Given the description of an element on the screen output the (x, y) to click on. 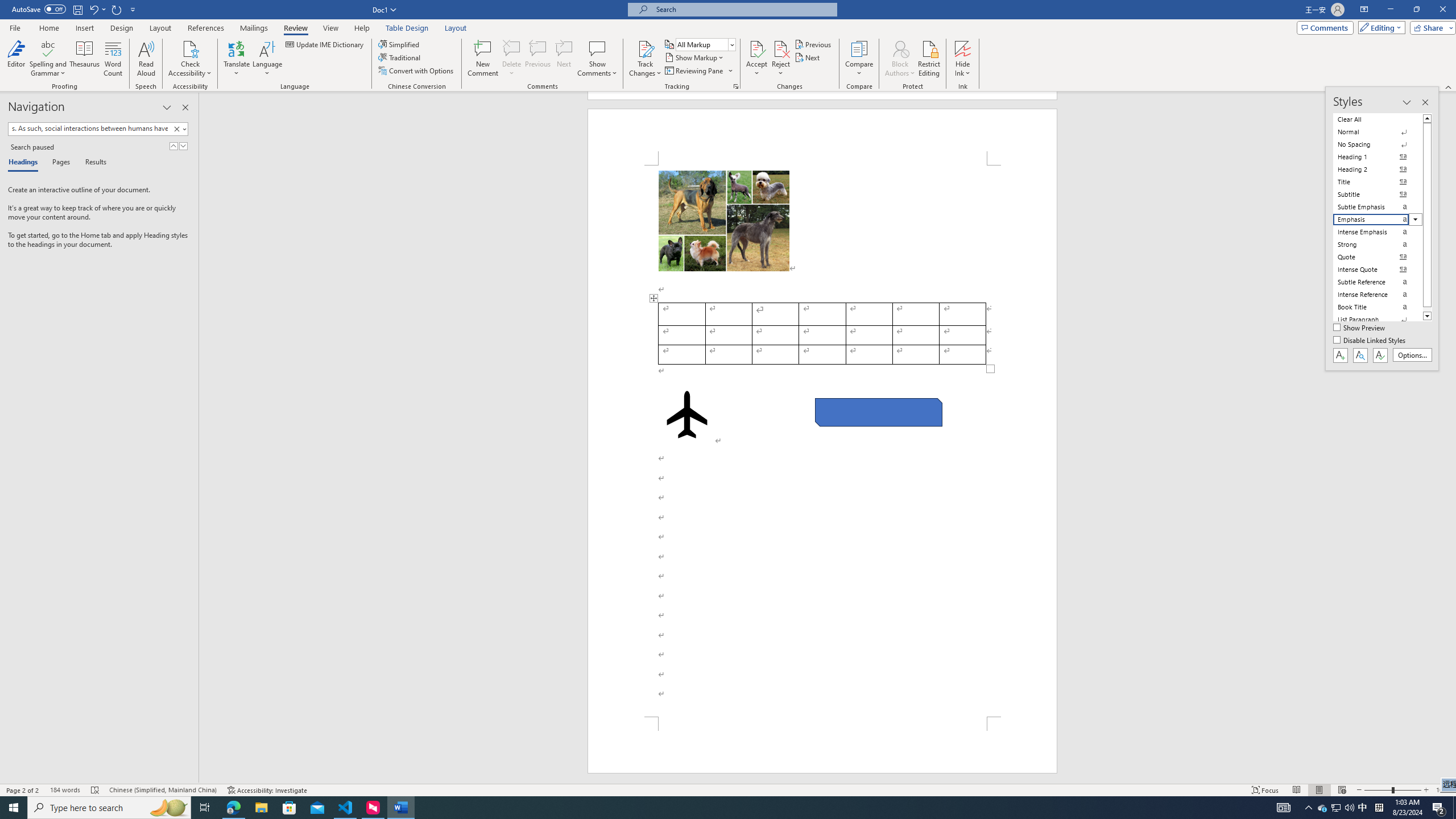
Book Title (1377, 306)
Word Count (113, 58)
Simplified (400, 44)
Normal (1377, 131)
Reject (780, 58)
Intense Quote (1377, 269)
Change Tracking Options... (735, 85)
Intense Emphasis (1377, 232)
Next Result (183, 145)
